Given the description of an element on the screen output the (x, y) to click on. 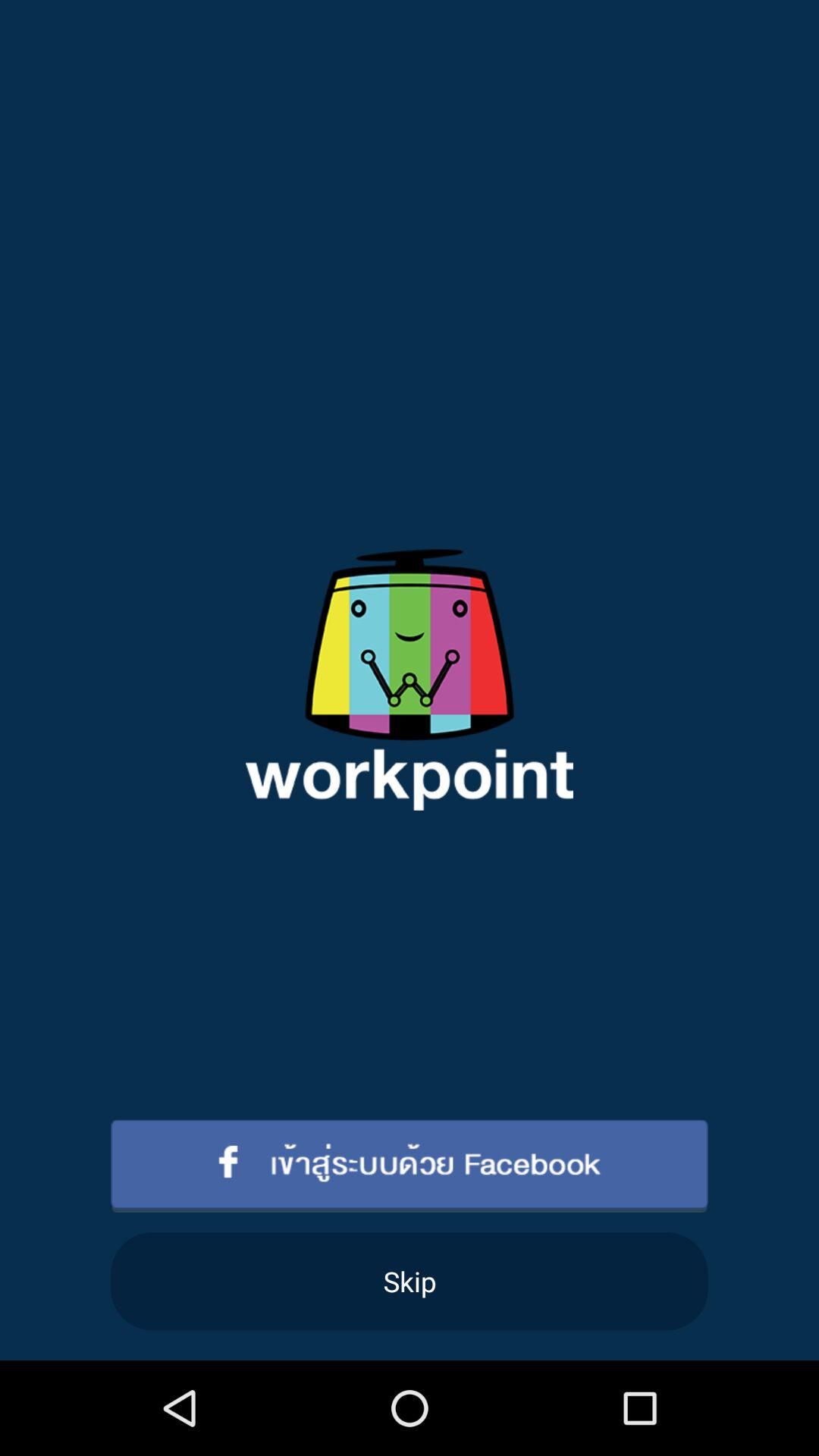
press item above skip (409, 1165)
